Given the description of an element on the screen output the (x, y) to click on. 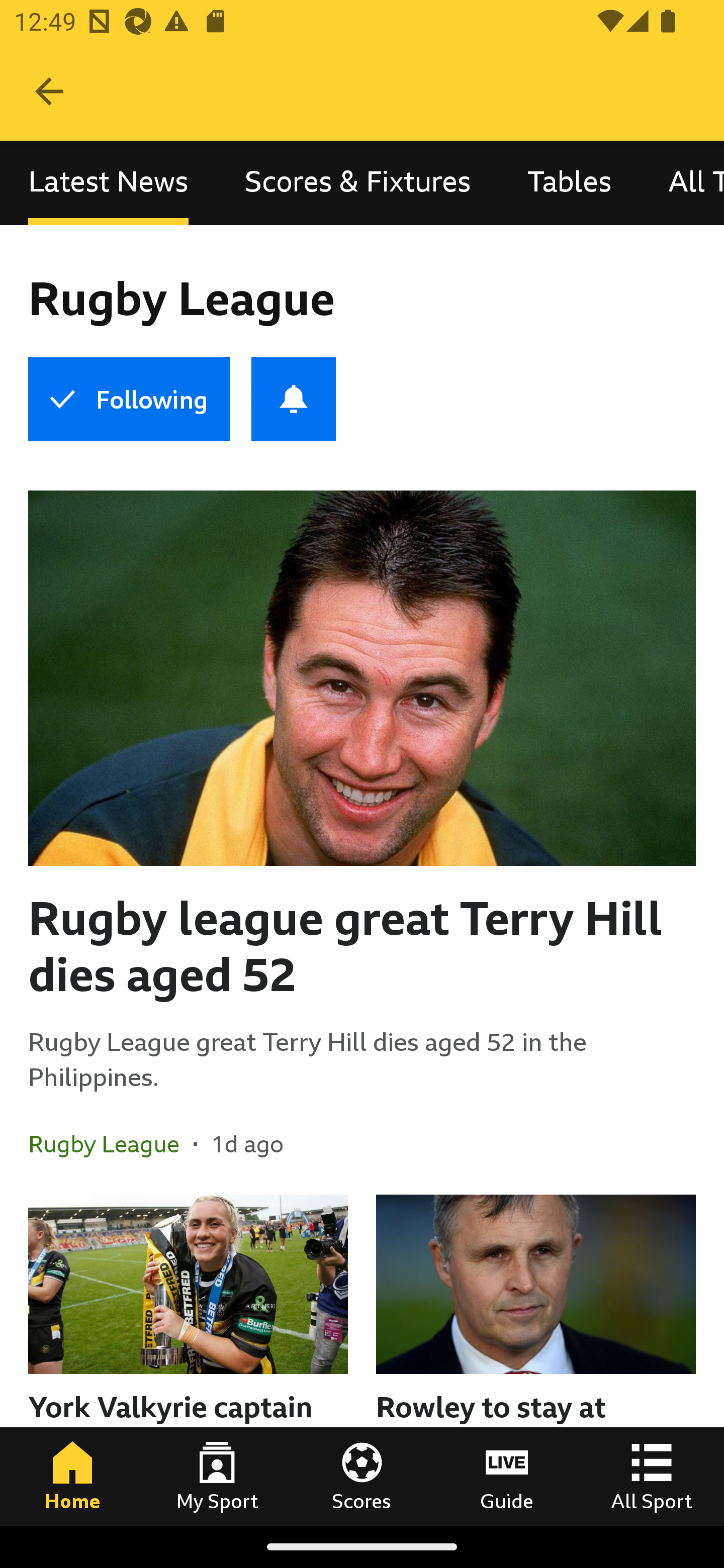
Navigate up (49, 91)
Latest News, selected Latest News (108, 183)
Scores & Fixtures (357, 183)
Tables (569, 183)
Following Rugby League Following (129, 398)
Push notifications for Rugby League (293, 398)
My Sport (216, 1475)
Scores (361, 1475)
Guide (506, 1475)
All Sport (651, 1475)
